Given the description of an element on the screen output the (x, y) to click on. 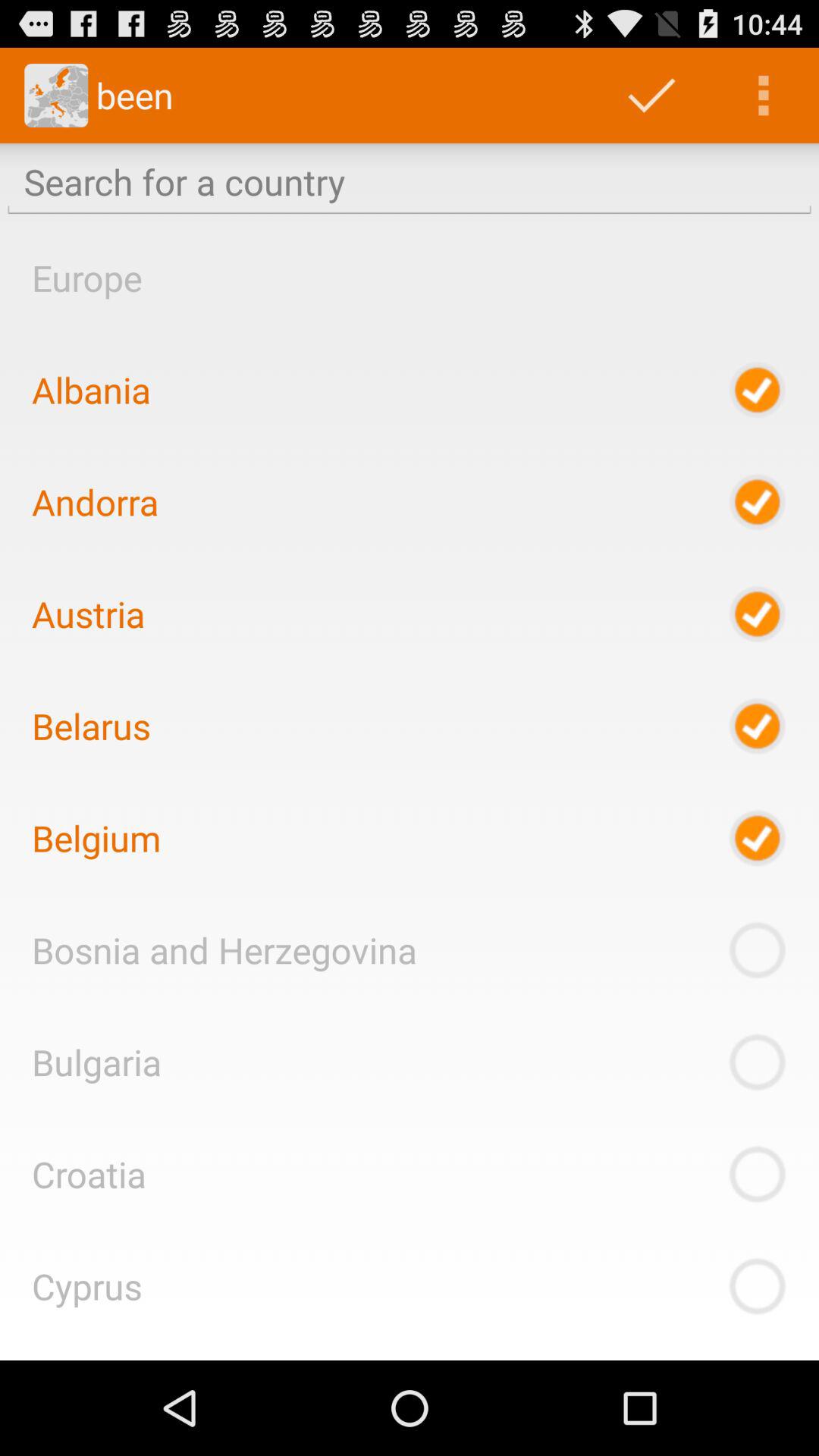
click the bulgaria app (96, 1061)
